Given the description of an element on the screen output the (x, y) to click on. 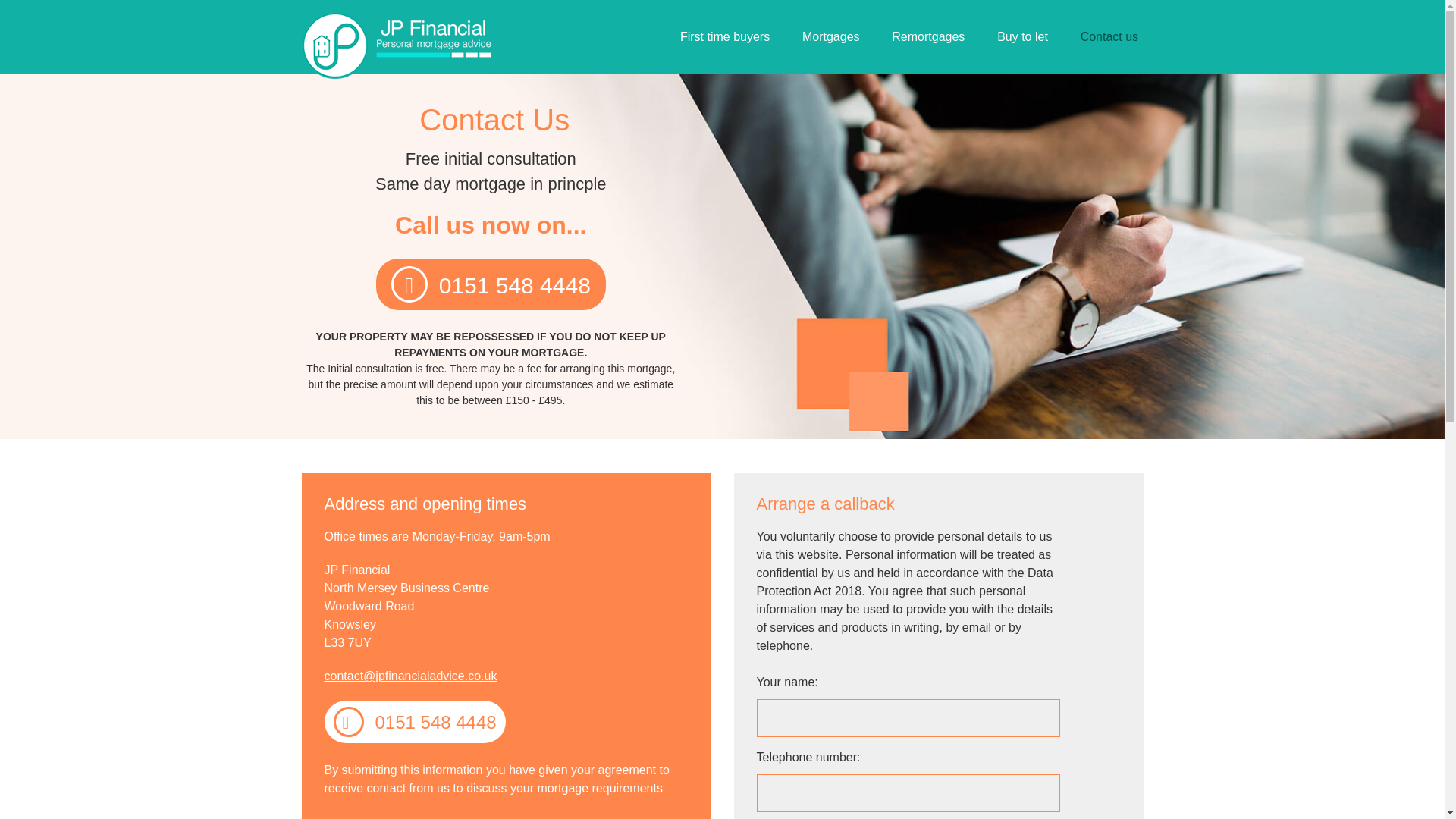
First time buyers (724, 37)
Remortgages (927, 37)
Mortgages (830, 37)
0151 548 4448 (414, 721)
Buy to let (1022, 37)
Contact us (1108, 37)
0151 548 4448 (490, 284)
